Given the description of an element on the screen output the (x, y) to click on. 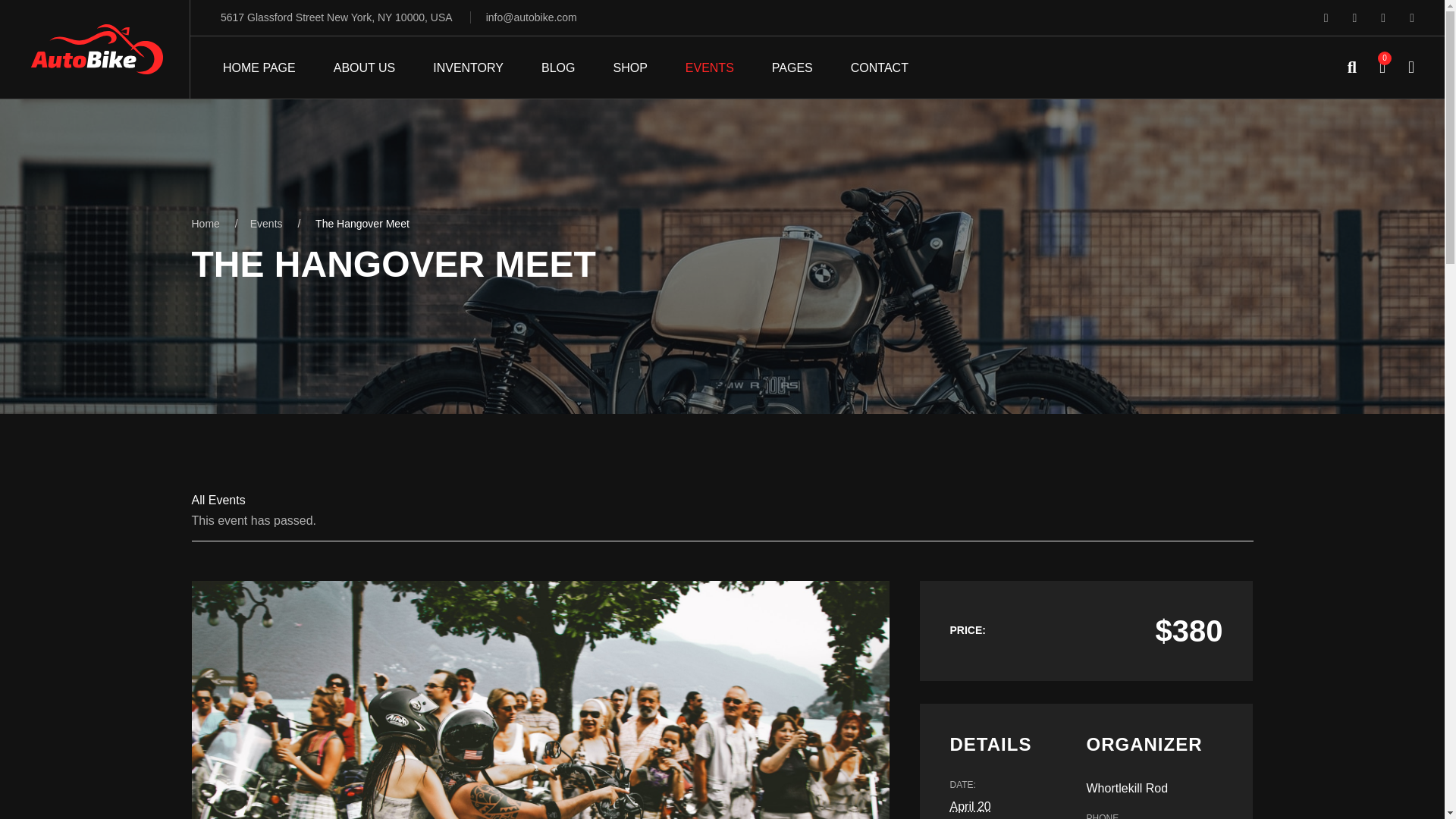
2024-04-20 (969, 806)
Home (204, 223)
Events (266, 223)
